Given the description of an element on the screen output the (x, y) to click on. 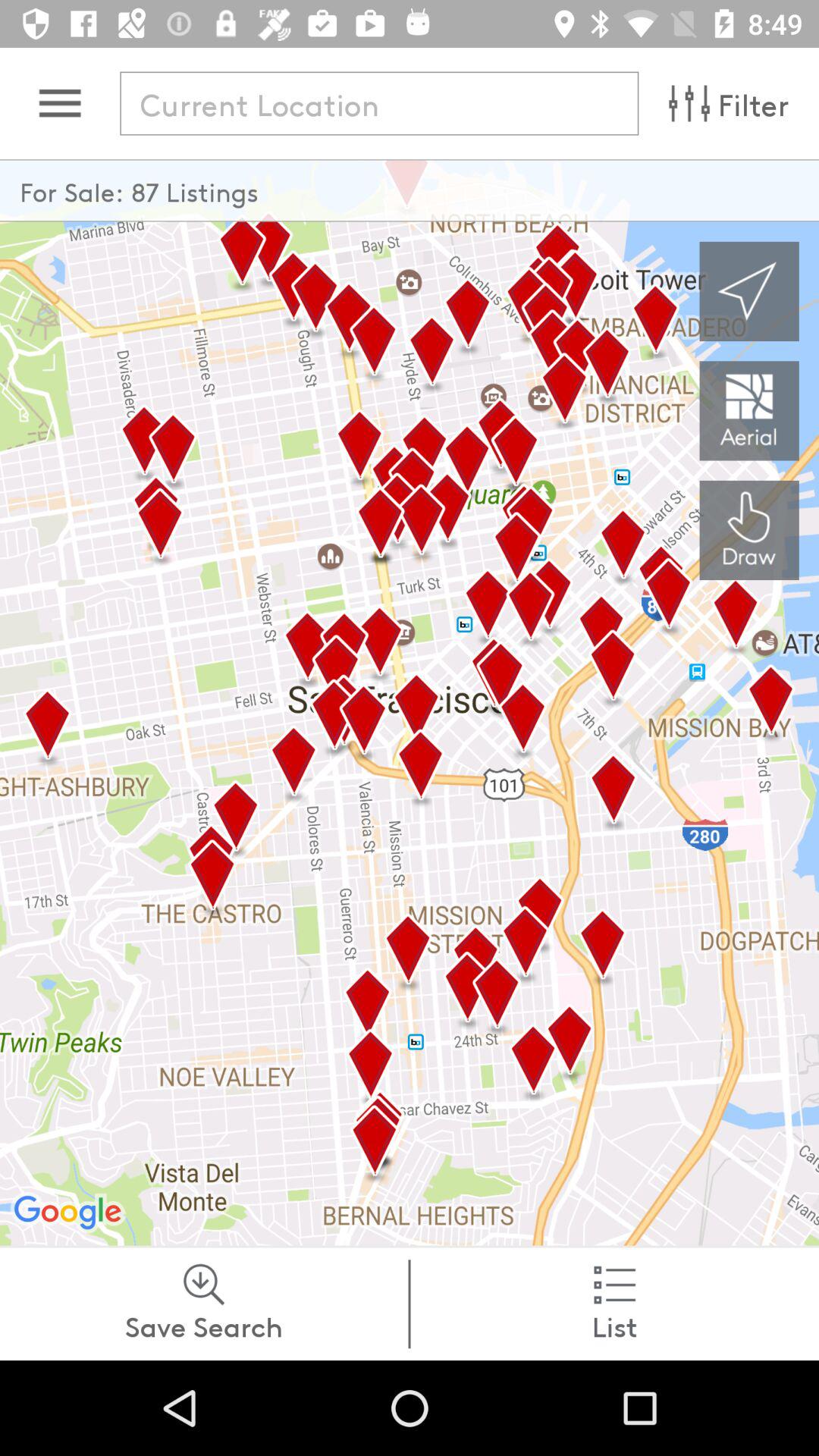
jump to the list (614, 1303)
